Given the description of an element on the screen output the (x, y) to click on. 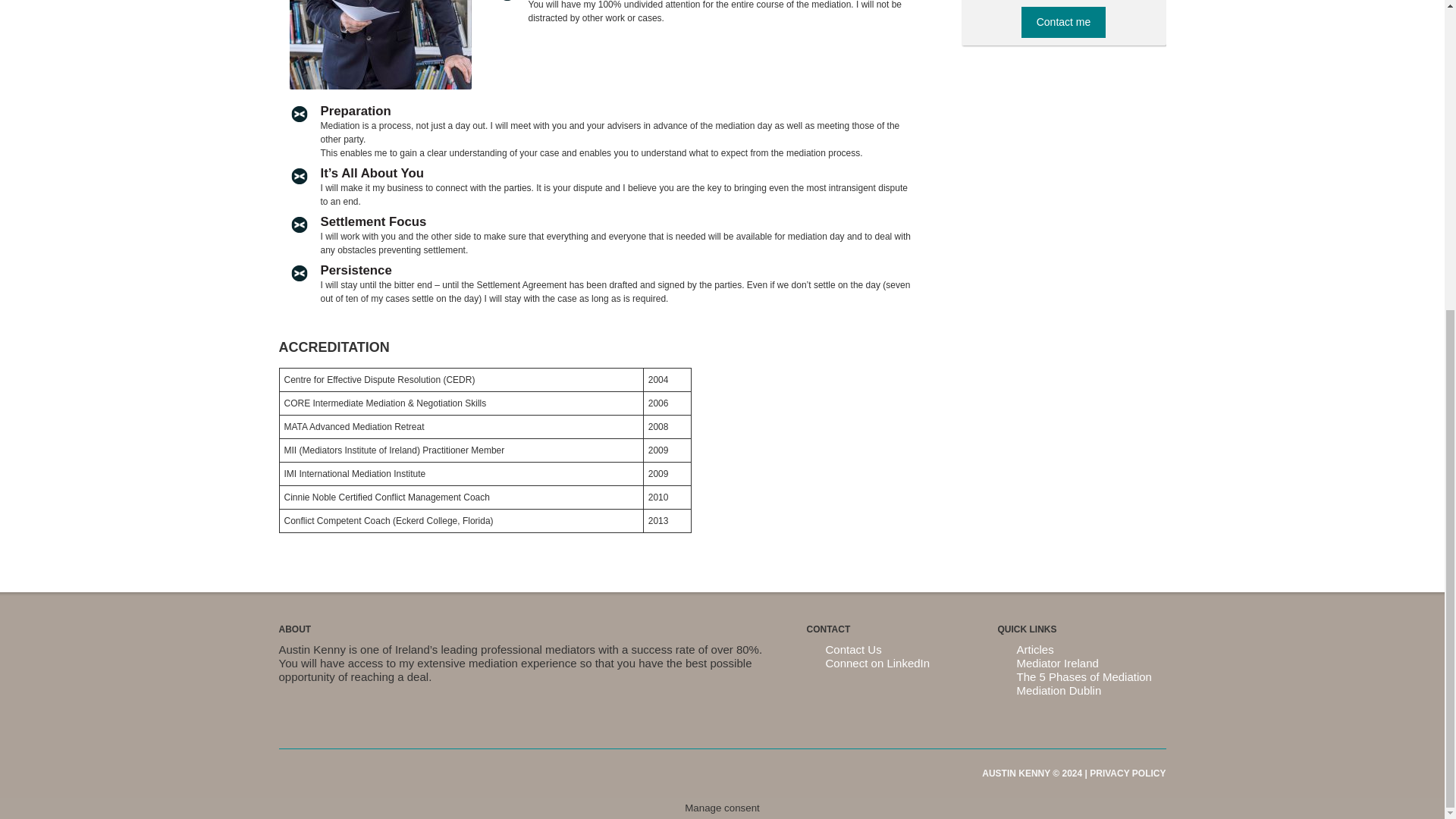
Articles (1034, 649)
Connect on LinkedIn (877, 662)
Contact me (1064, 21)
Mediator Ireland (1056, 662)
Contact me (1064, 21)
Contact Us (852, 649)
Privacy Policy (1127, 773)
